Given the description of an element on the screen output the (x, y) to click on. 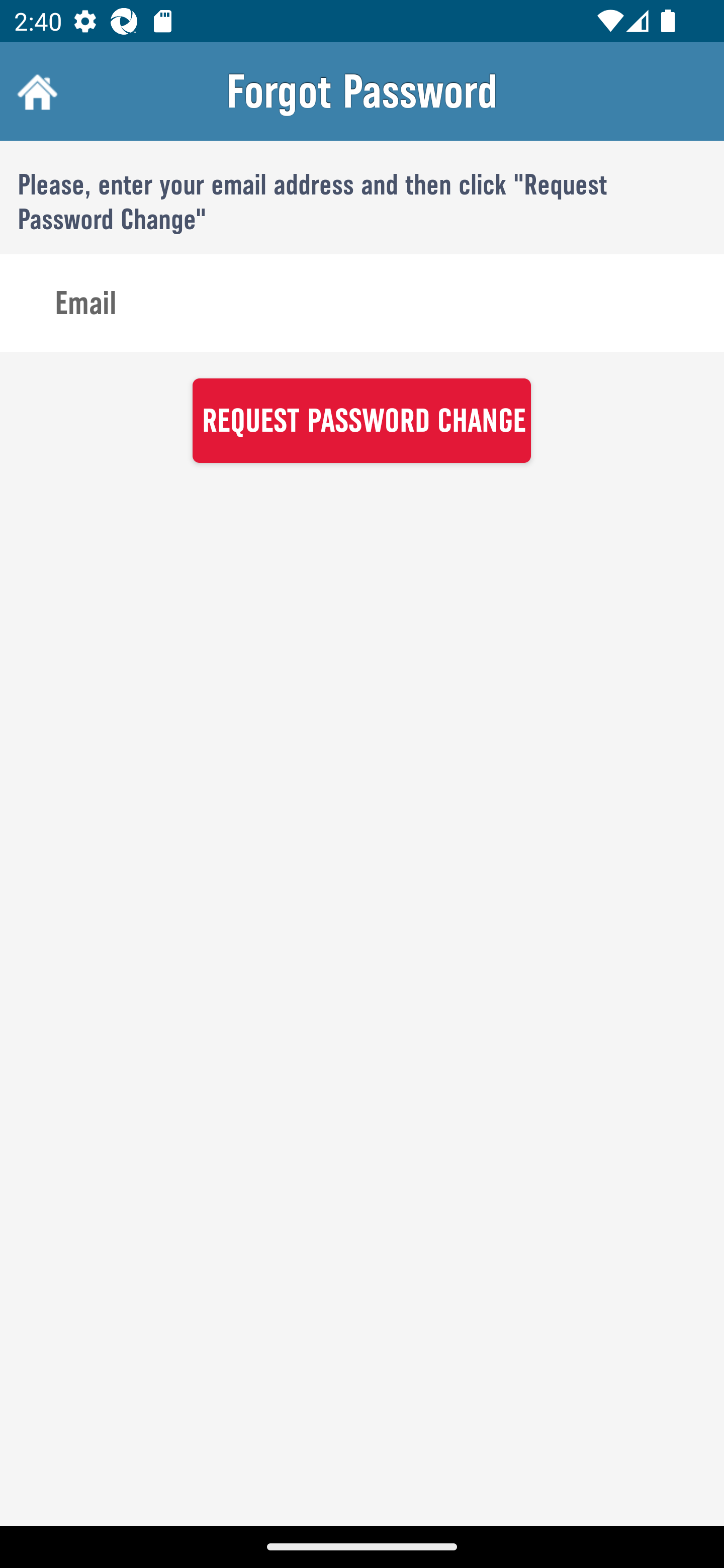
Home (35, 91)
Email (361, 303)
REQUEST PASSWORD CHANGE (361, 419)
